Given the description of an element on the screen output the (x, y) to click on. 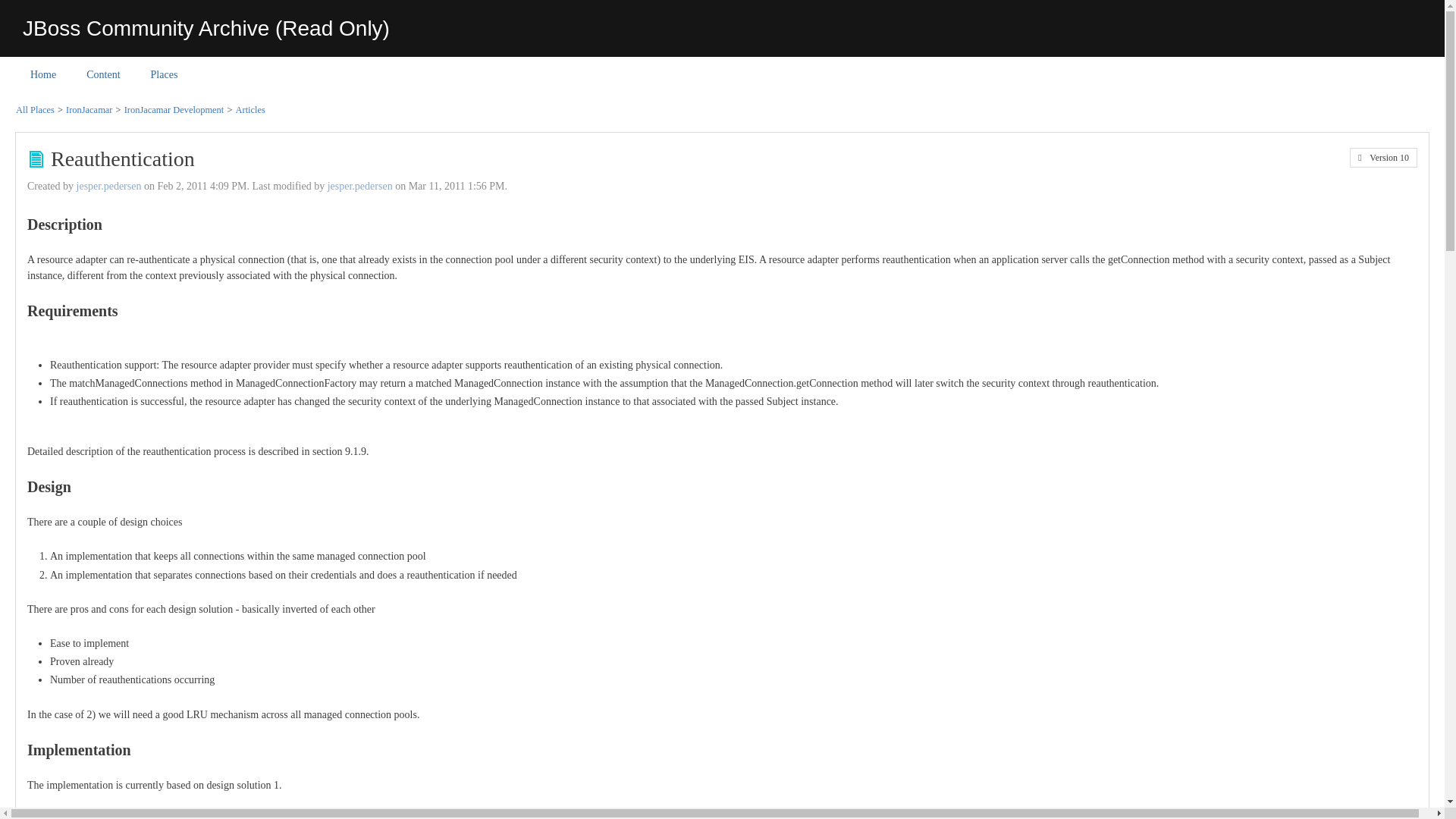
Home (42, 74)
Articles (250, 109)
Content (103, 74)
jesper.pedersen (360, 185)
IronJacamar Development (174, 109)
jesper.pedersen (109, 185)
Places (164, 74)
IronJacamar (89, 109)
Article (36, 158)
All Places (34, 109)
